Given the description of an element on the screen output the (x, y) to click on. 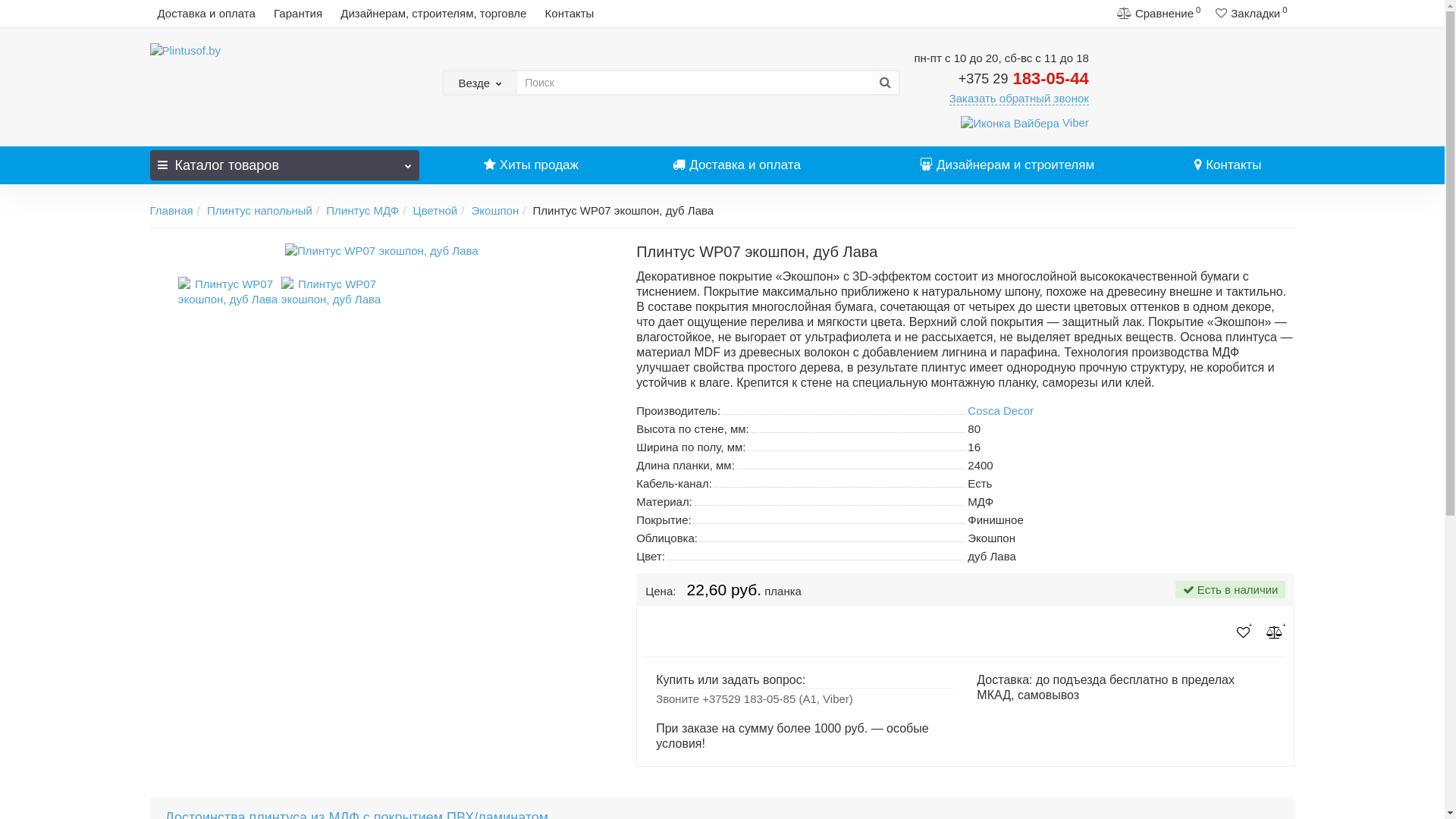
Viber Element type: text (1024, 122)
+375 29 183-05-44 Element type: text (1023, 77)
Plintusof.by Element type: hover (284, 50)
Cosca Decor Element type: text (1000, 410)
